Given the description of an element on the screen output the (x, y) to click on. 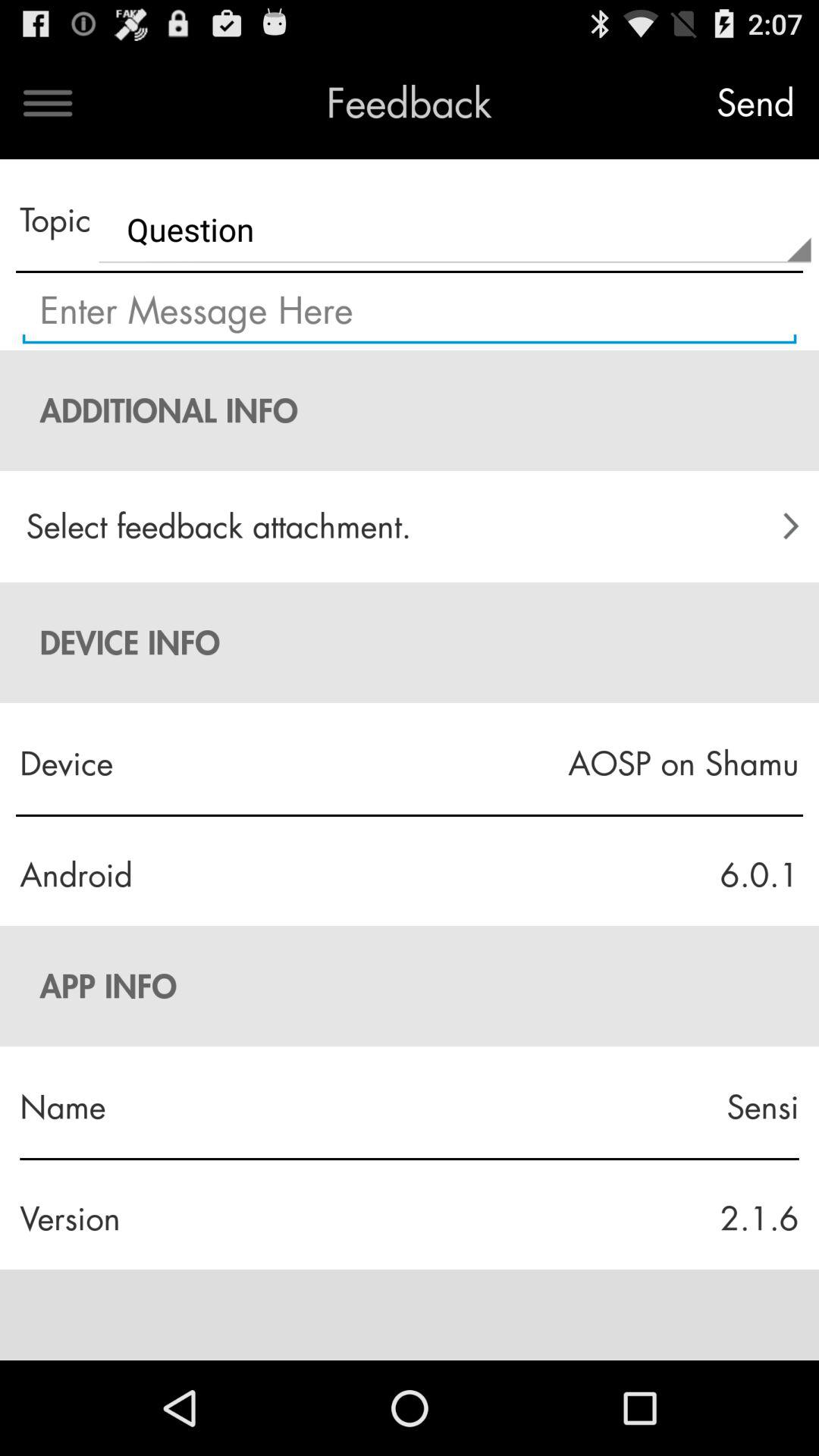
turn off the item above the topic item (47, 103)
